Given the description of an element on the screen output the (x, y) to click on. 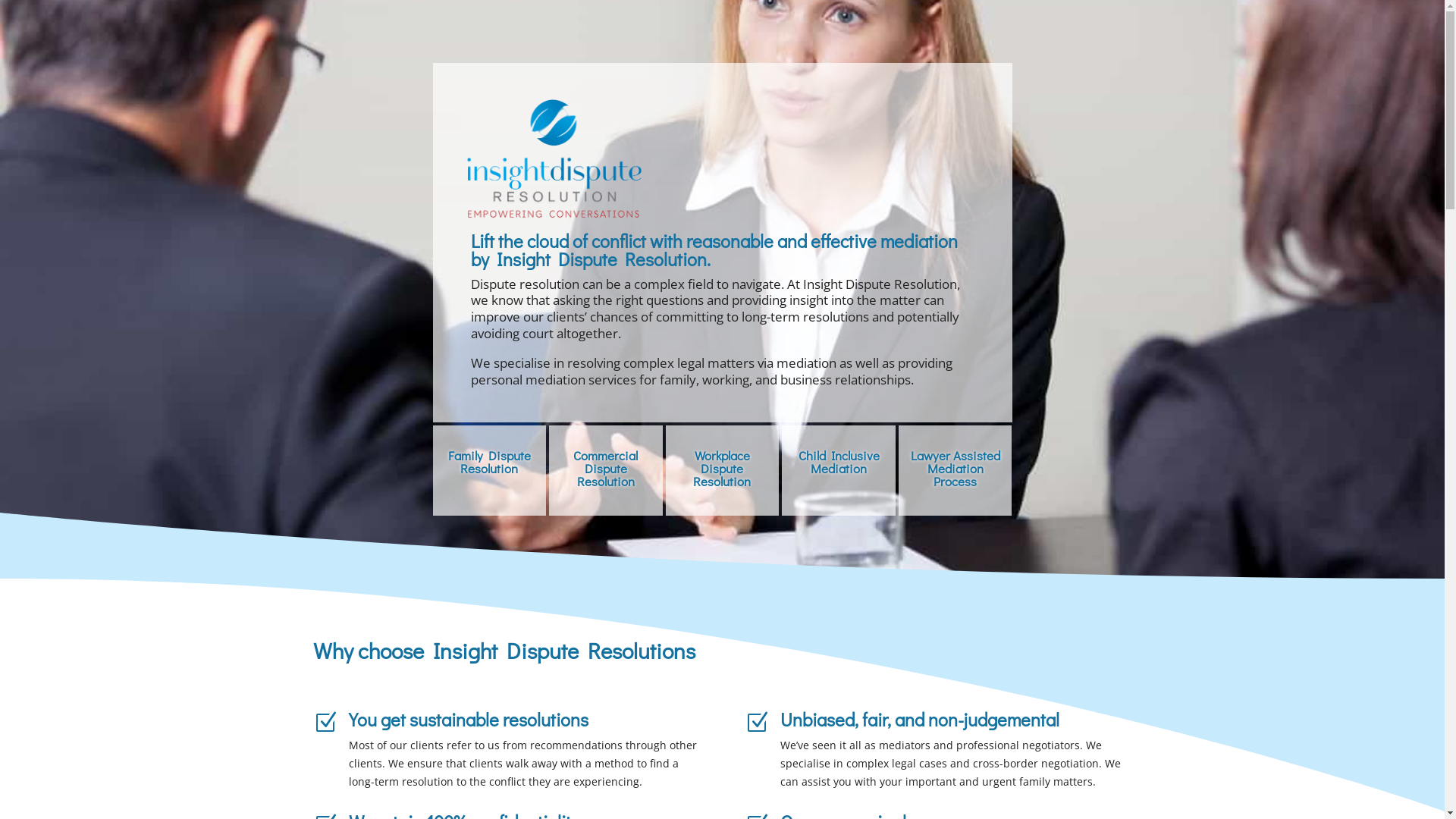
IDR Logo Element type: hover (553, 157)
